Given the description of an element on the screen output the (x, y) to click on. 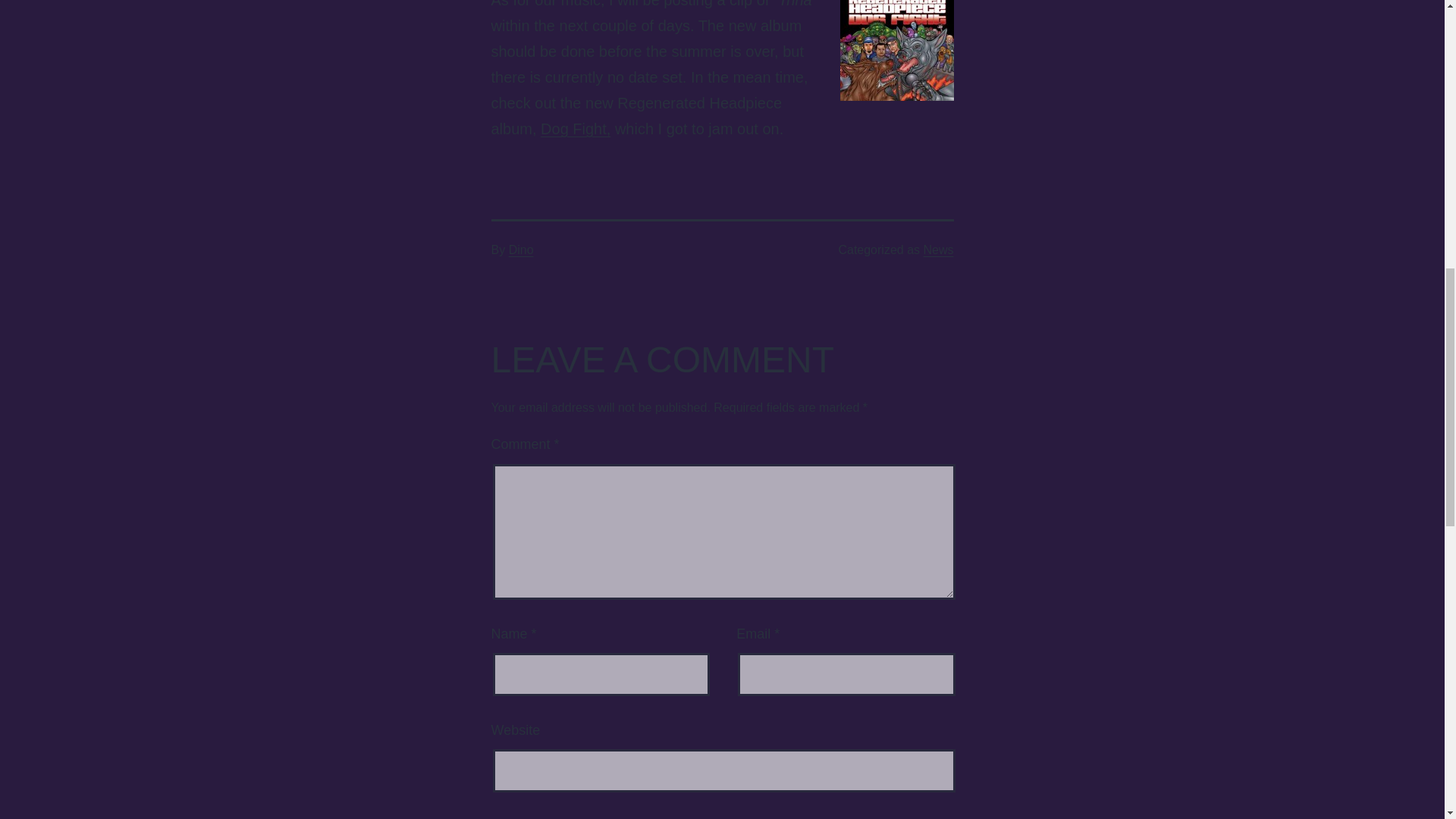
Dog Fight by Regenerated Headpiece (575, 128)
Dog Fight, (575, 128)
Dino (521, 249)
News (938, 249)
Post Comment (569, 816)
Post Comment (569, 816)
Dog Fight (896, 50)
